Given the description of an element on the screen output the (x, y) to click on. 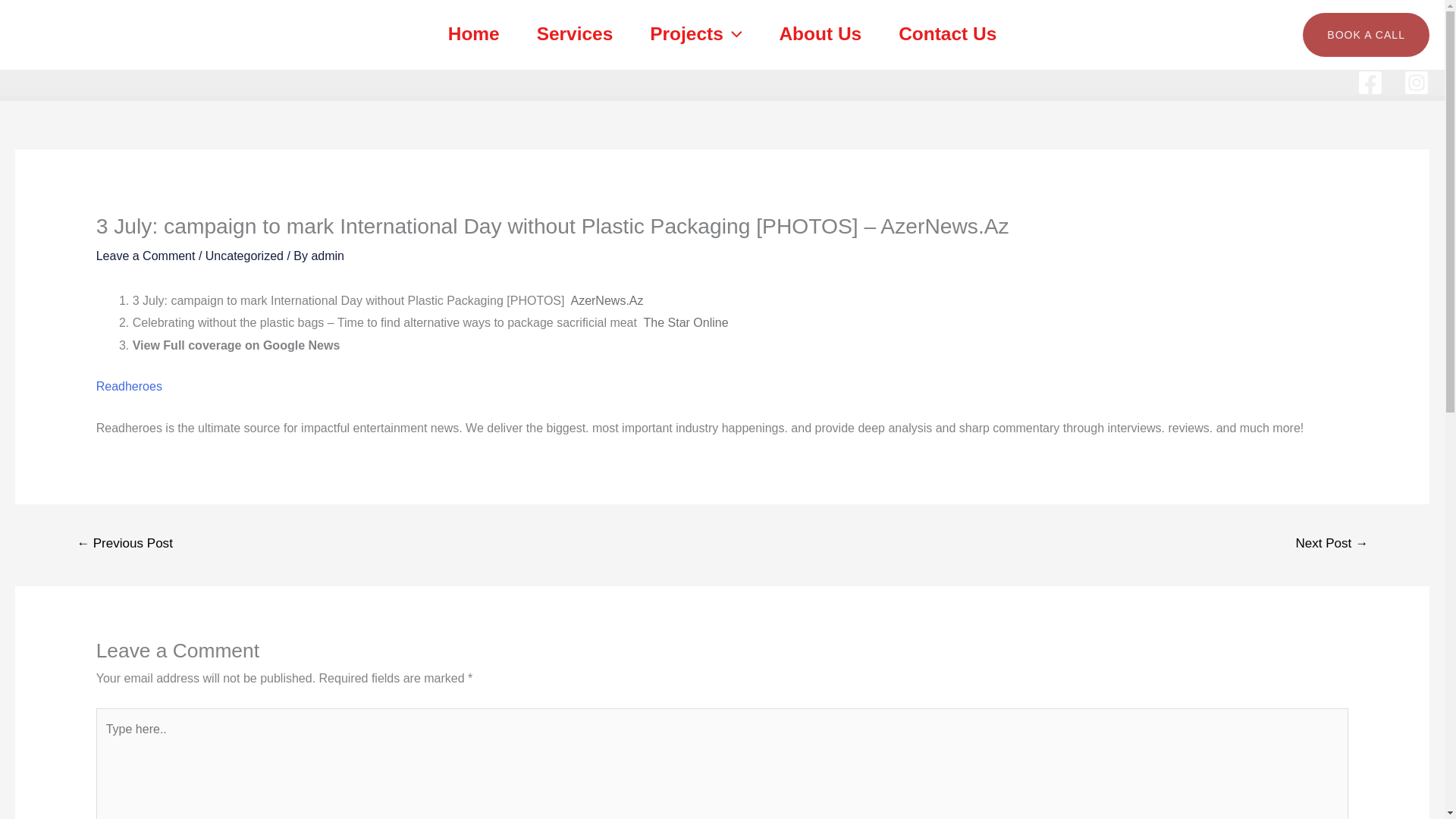
Uncategorized (244, 255)
Readheroes (128, 386)
admin (327, 255)
Contact Us (947, 33)
View all posts by admin (327, 255)
Home (473, 33)
Services (574, 33)
Leave a Comment (145, 255)
BOOK A CALL (1366, 34)
About Us (820, 33)
